Given the description of an element on the screen output the (x, y) to click on. 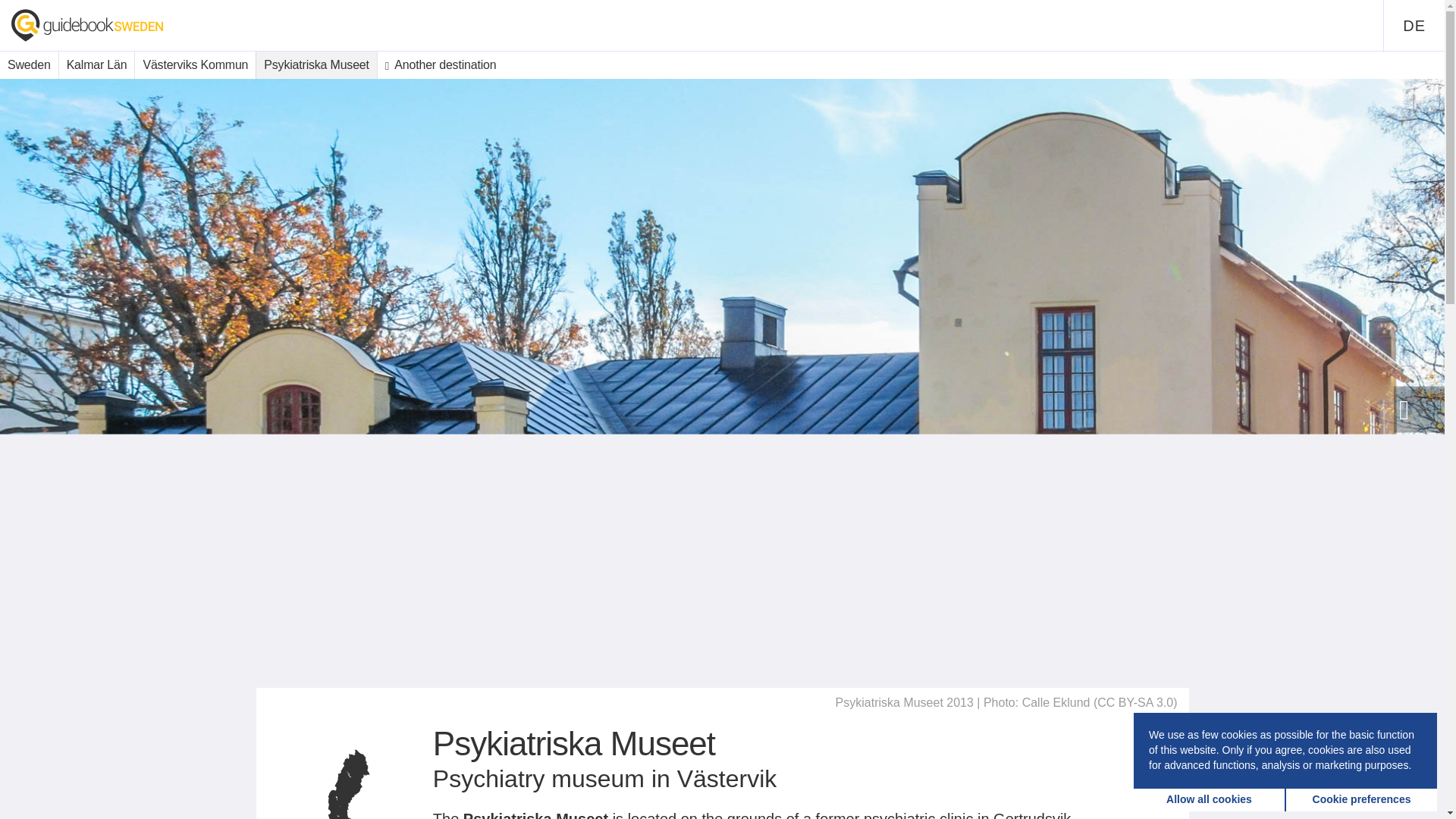
Another destination (440, 64)
Calle Eklund (1056, 702)
Sweden (29, 64)
Allow all cookies (1209, 799)
CC BY-SA 3.0 (1135, 702)
